Given the description of an element on the screen output the (x, y) to click on. 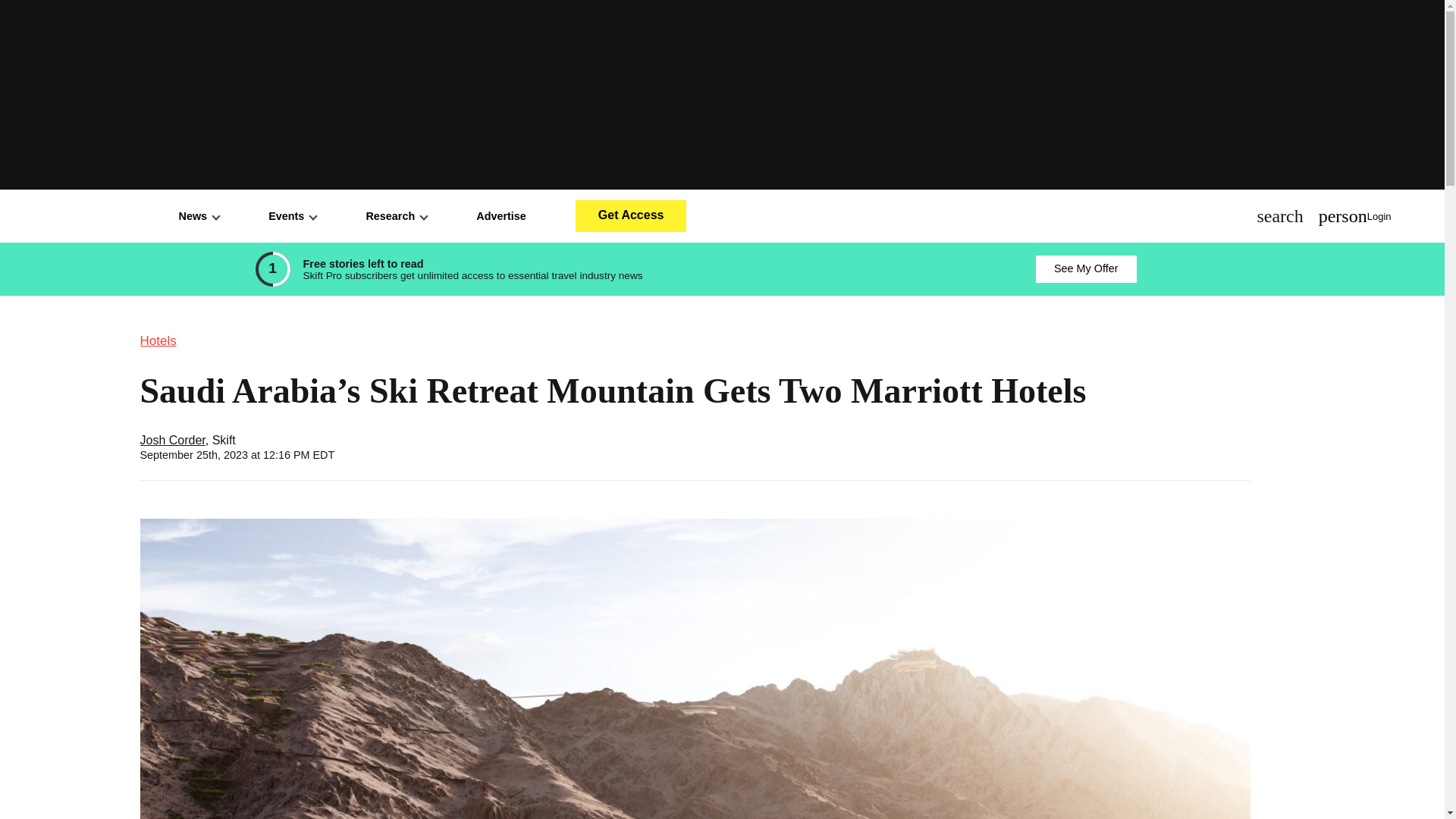
Events (291, 215)
Research (395, 215)
